Given the description of an element on the screen output the (x, y) to click on. 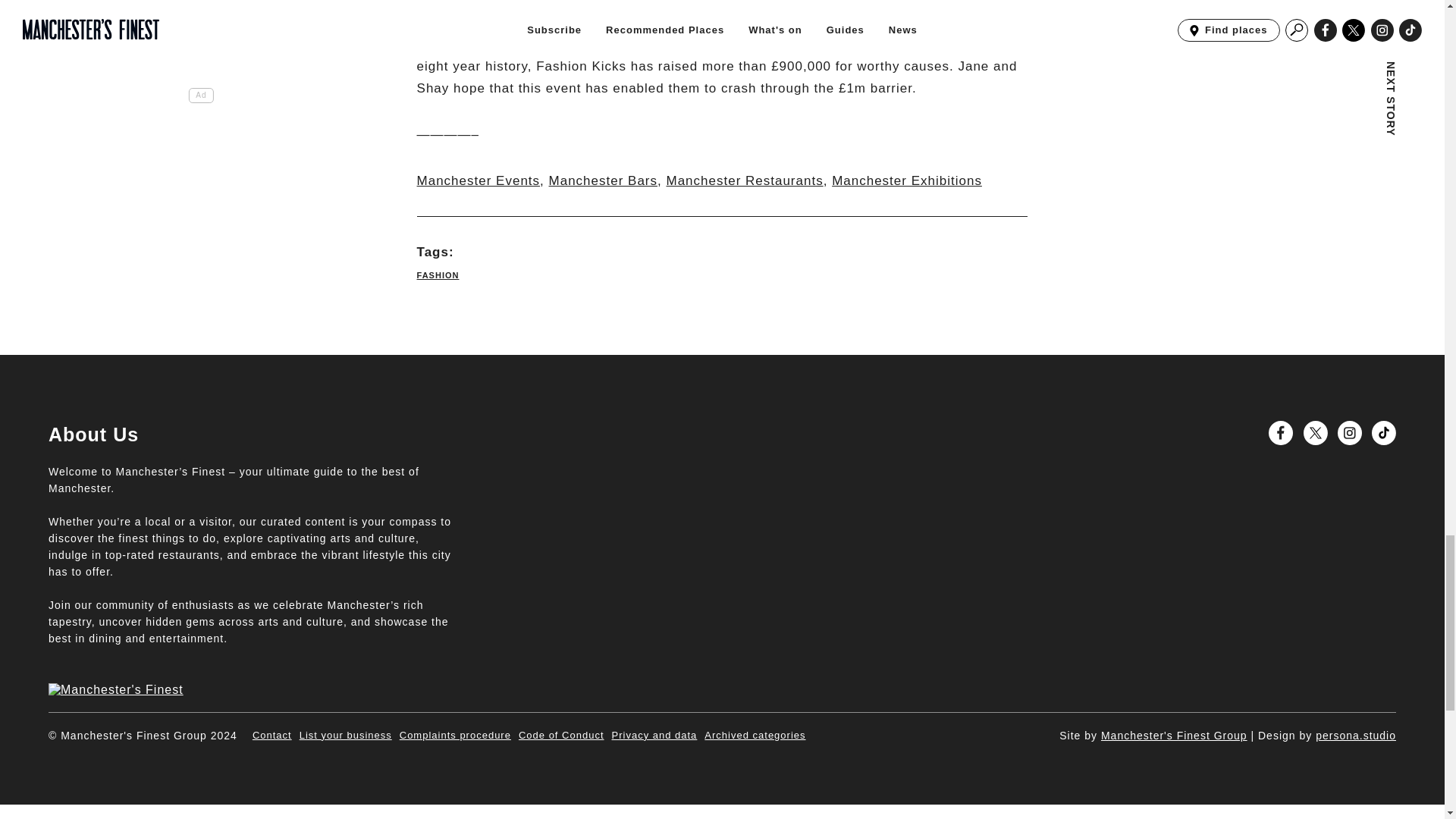
Manchester Restaurants (743, 179)
Manchester Events (478, 179)
Go to Manchester's Finest TikTok profile (1383, 432)
Manchester Exhibitions (906, 179)
Manchester Bars (603, 179)
Go to Manchester's Finest Facebook page (1280, 432)
Go to Manchester's Finest X profile (1315, 432)
Go to Manchester's Finest Instagram profile (1349, 432)
